Given the description of an element on the screen output the (x, y) to click on. 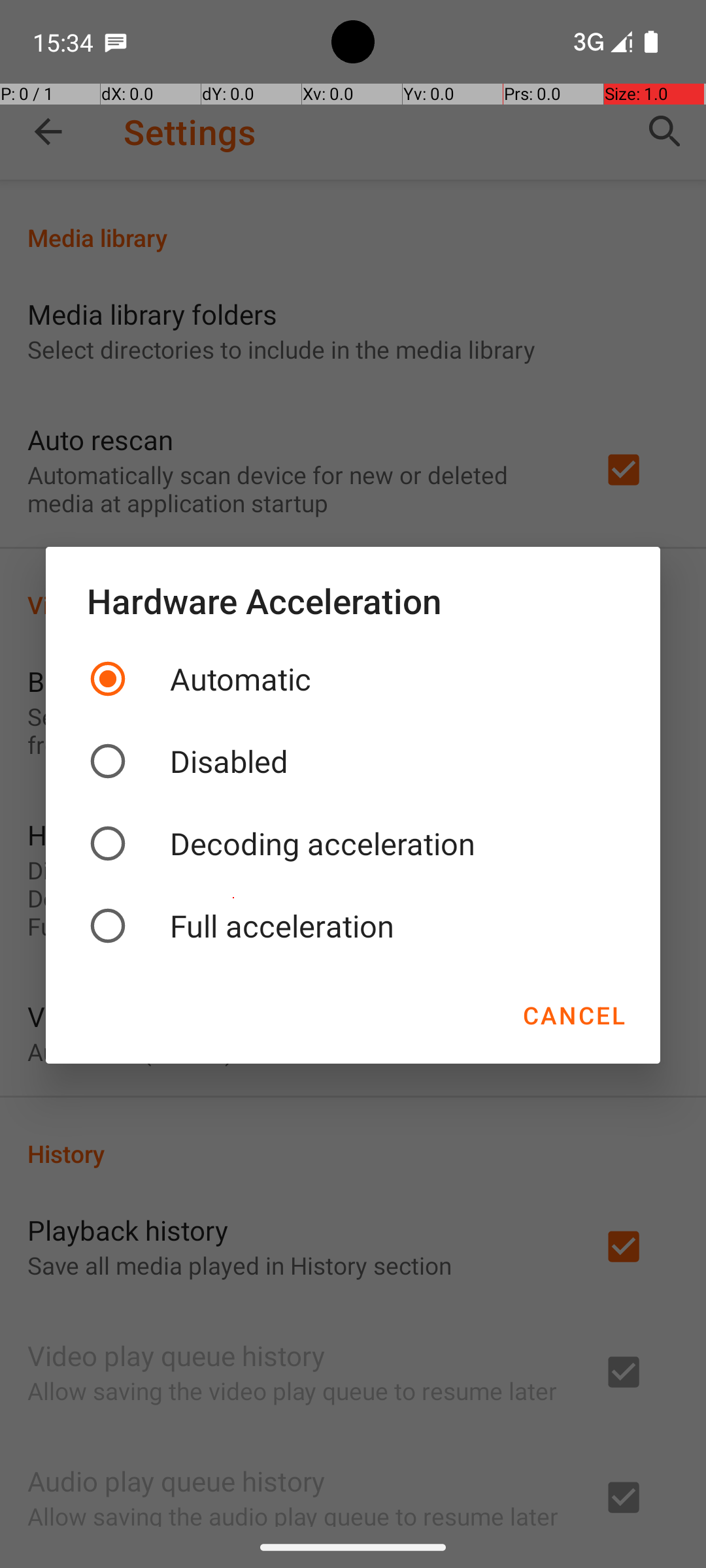
Hardware Acceleration Element type: android.widget.TextView (352, 600)
Automatic Element type: android.widget.CheckedTextView (352, 678)
Disabled Element type: android.widget.CheckedTextView (352, 760)
Decoding acceleration Element type: android.widget.CheckedTextView (352, 843)
Full acceleration Element type: android.widget.CheckedTextView (352, 925)
